Given the description of an element on the screen output the (x, y) to click on. 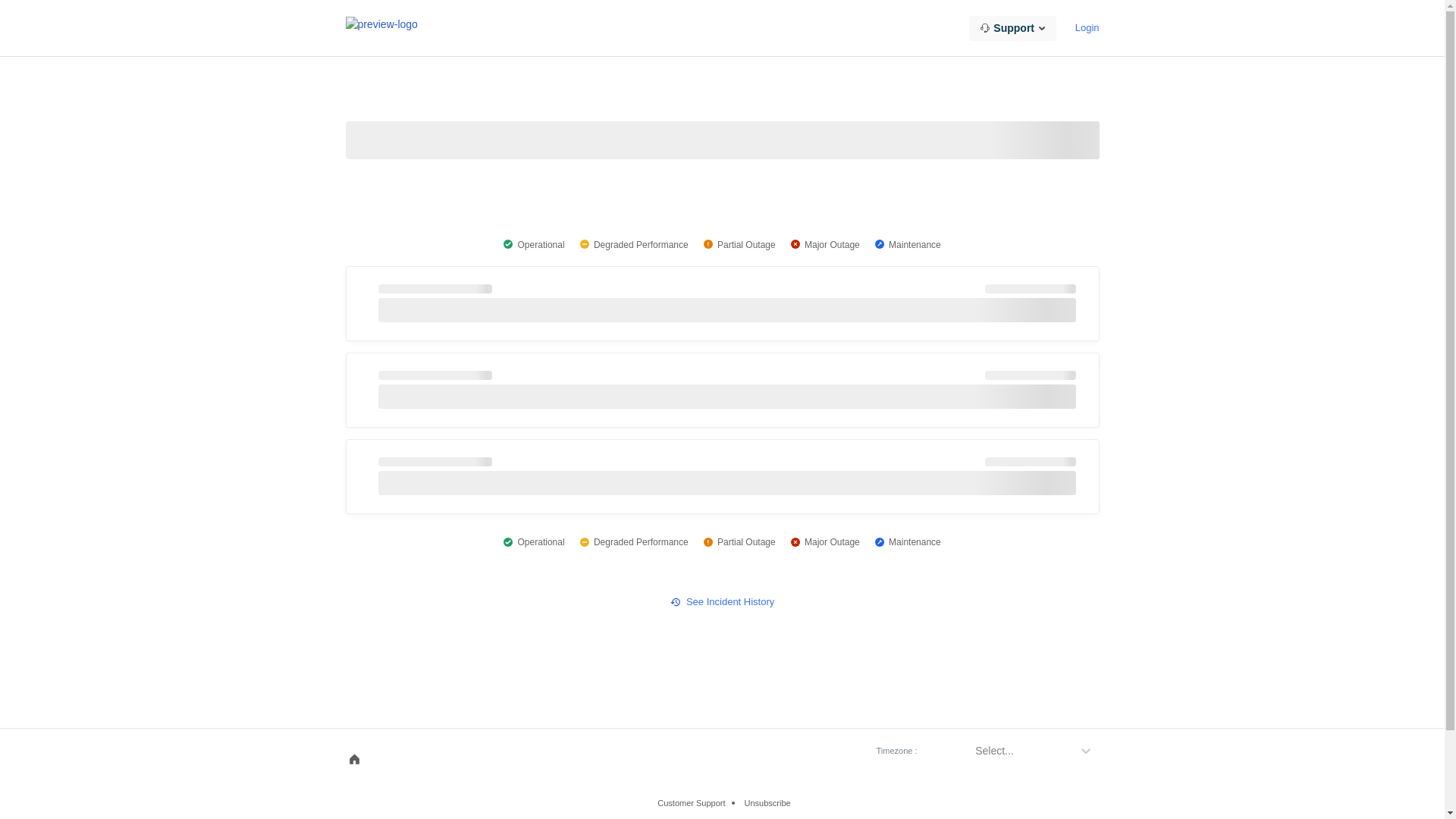
Customer Support Element type: text (698, 802)
  See Incident History Element type: text (722, 601)
